Given the description of an element on the screen output the (x, y) to click on. 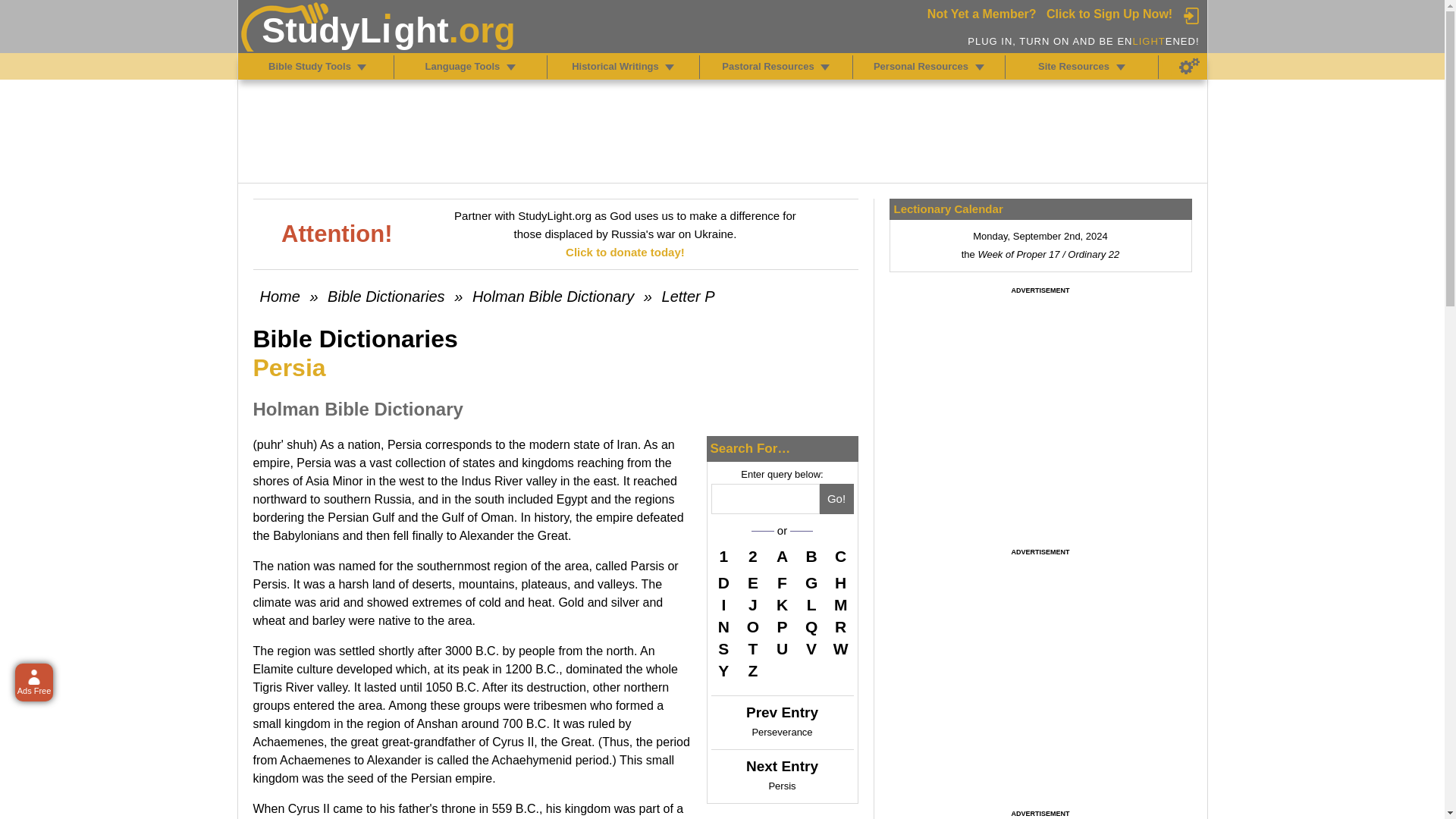
Y (723, 670)
J (752, 605)
Click to donate today! (625, 251)
Language Tools (510, 67)
B (810, 558)
A (782, 558)
E (752, 583)
W (840, 648)
Site Resources (1120, 67)
Historical Writings (669, 67)
